Given the description of an element on the screen output the (x, y) to click on. 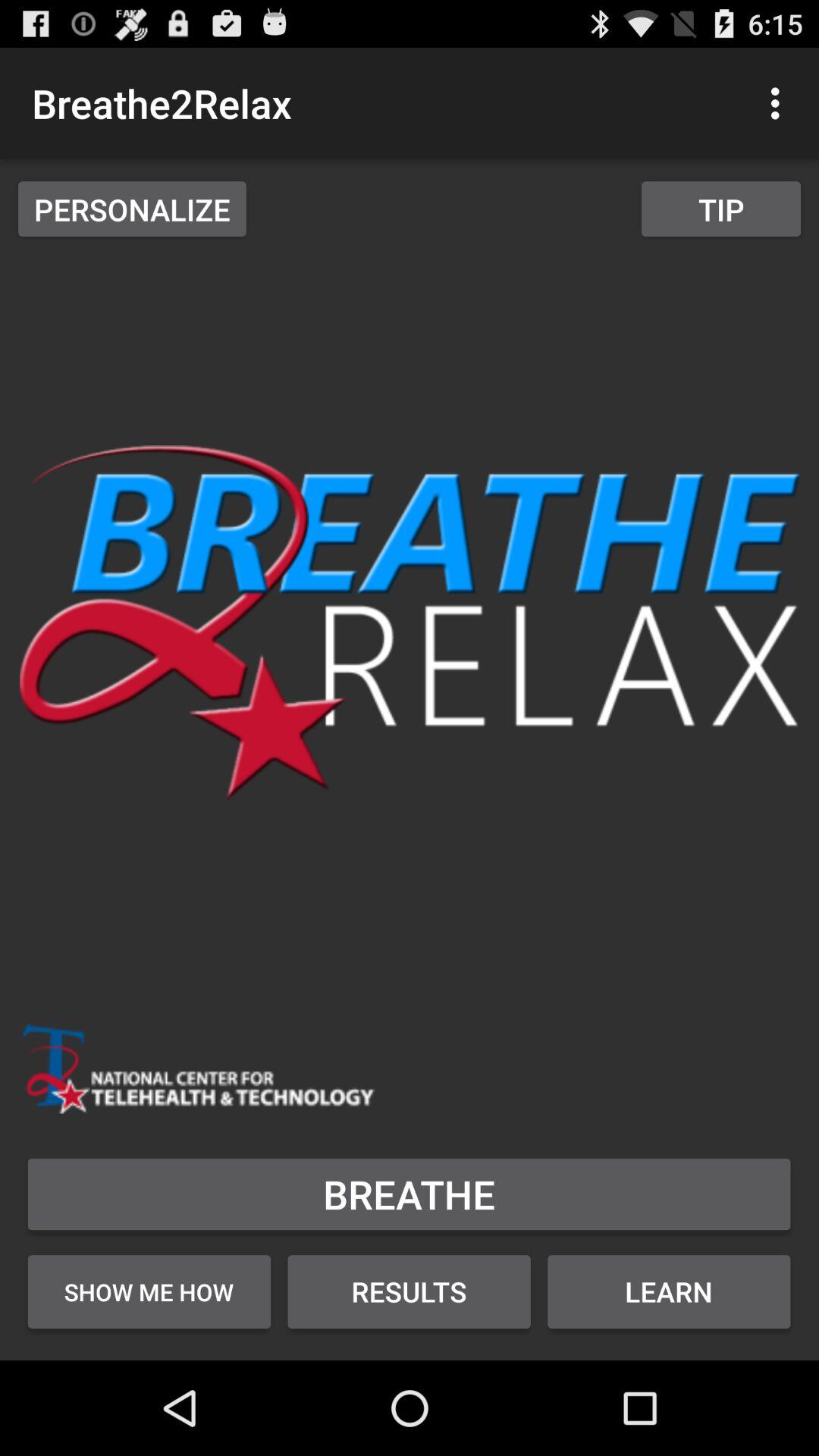
turn on the item next to the show me how button (408, 1291)
